Given the description of an element on the screen output the (x, y) to click on. 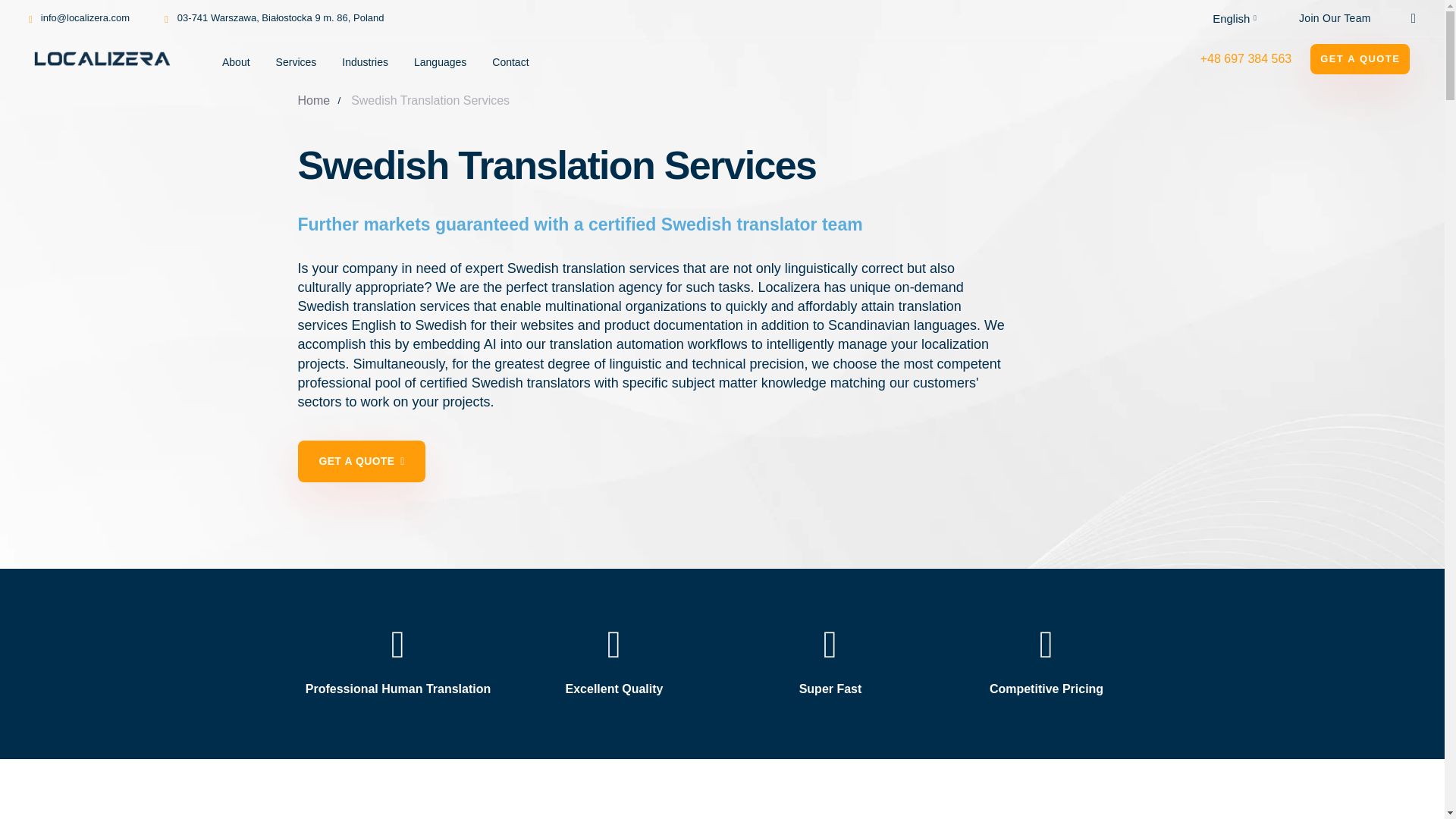
Languages (439, 58)
Services (295, 58)
Industries (364, 58)
Join Our Team (1334, 18)
About (235, 58)
